Given the description of an element on the screen output the (x, y) to click on. 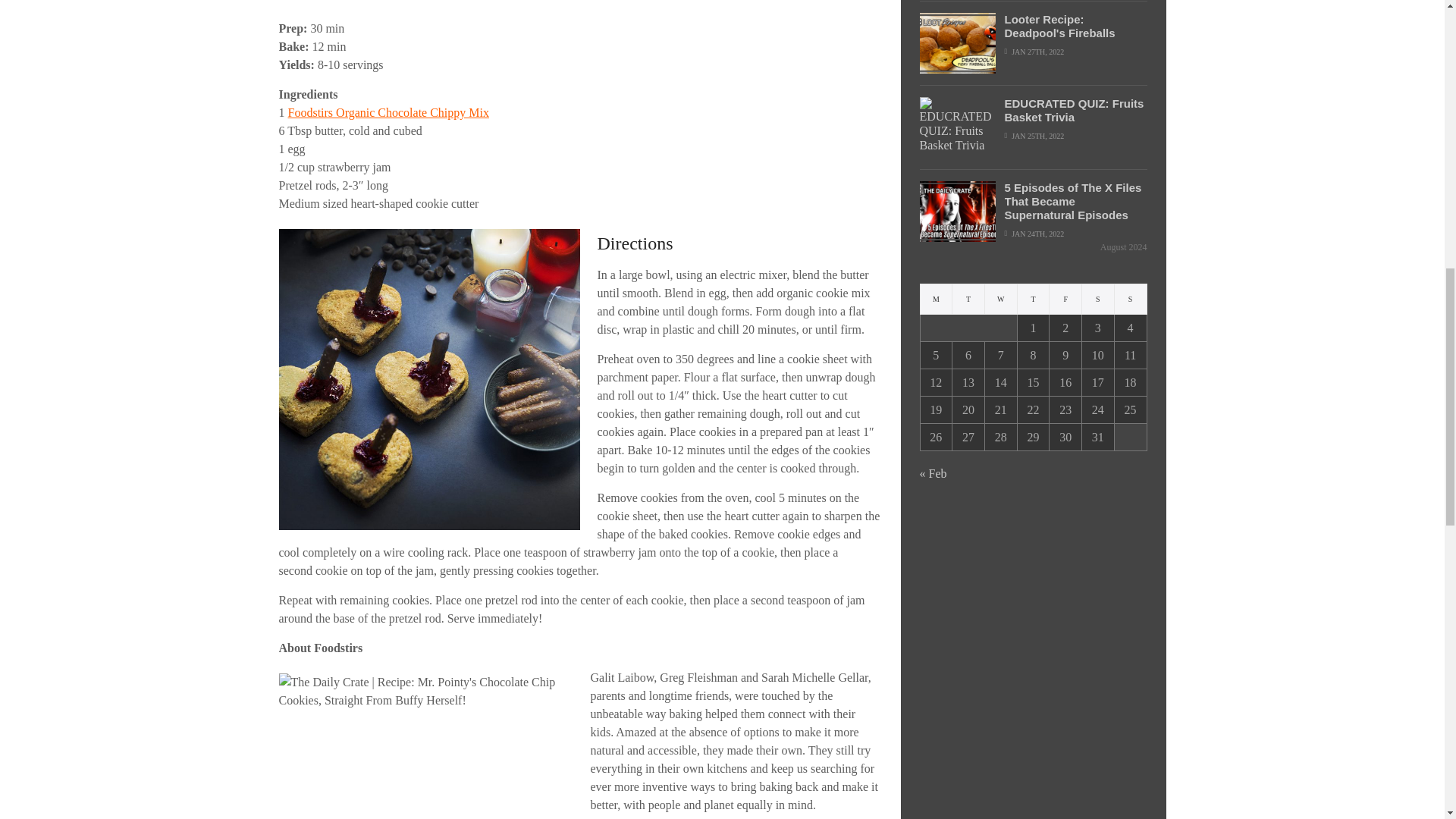
Foodstirs Organic Chocolate Chippy Mix (388, 112)
